Given the description of an element on the screen output the (x, y) to click on. 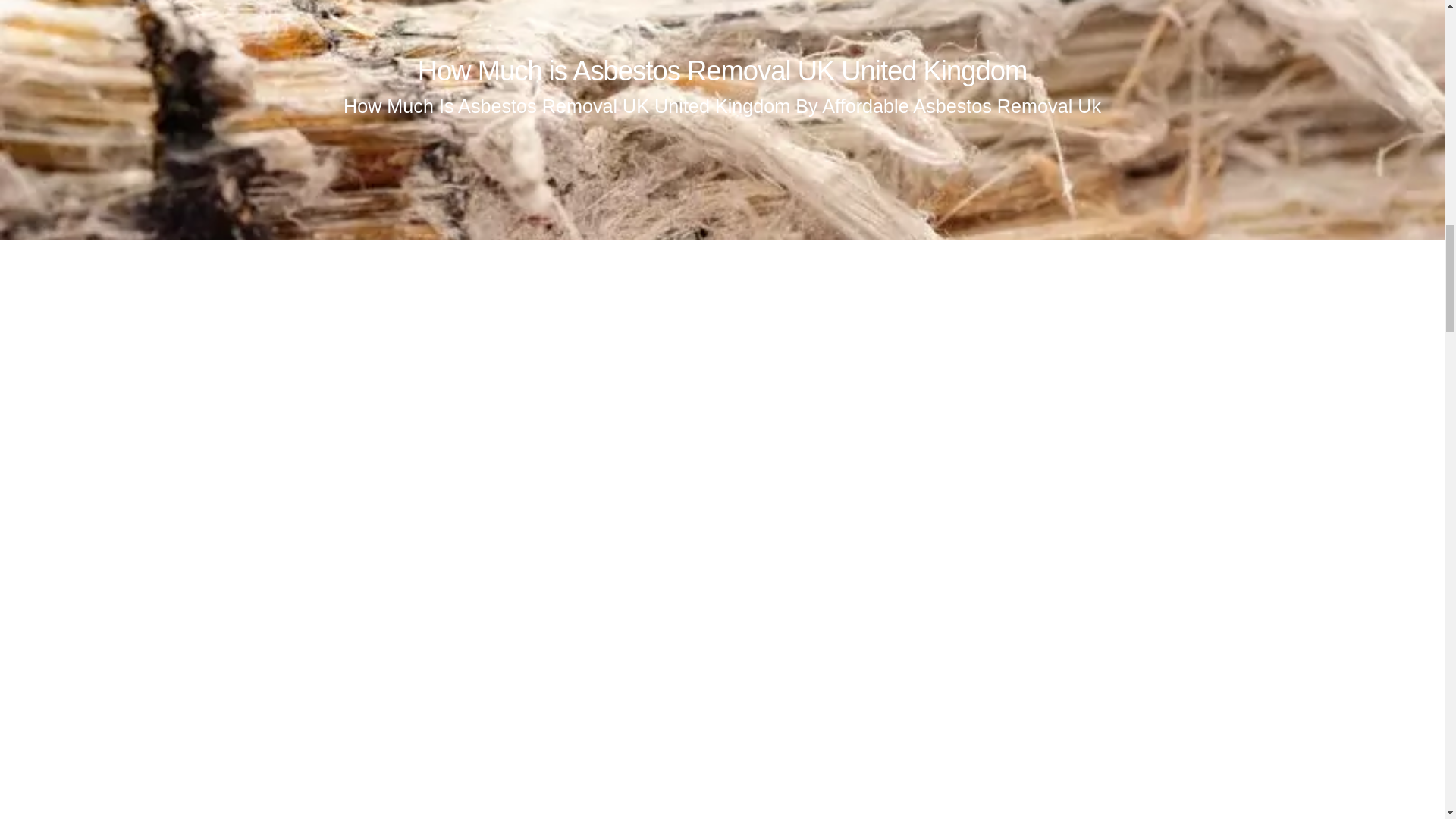
Asbestos Removal Cost UK United Kingdom (721, 361)
How Much is Asbestos Removal UK United Kingdom (721, 70)
Asbestos Removal Contractors in UK United Kingdom (721, 653)
